Given the description of an element on the screen output the (x, y) to click on. 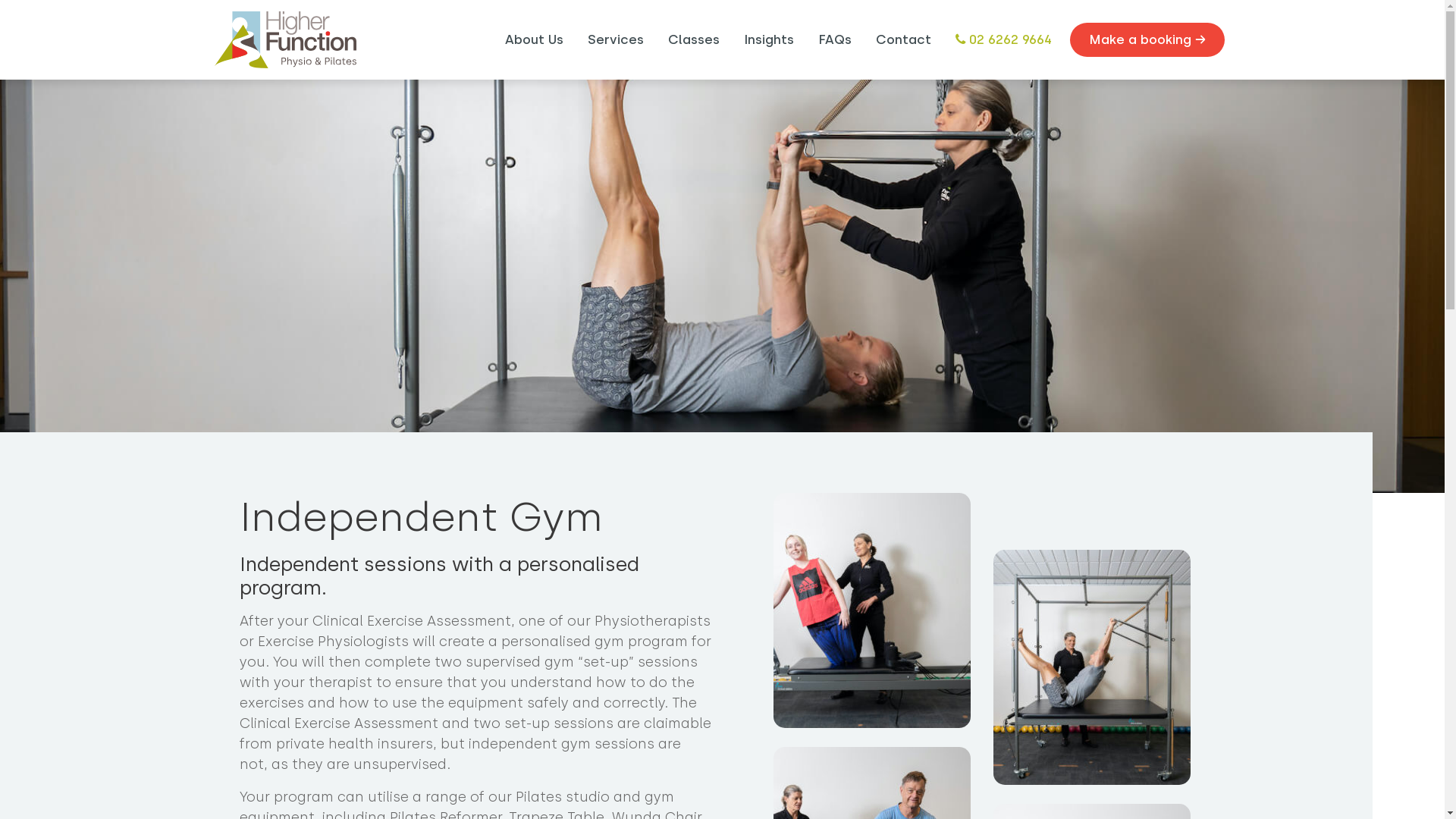
FAQs Element type: text (833, 40)
Contact Element type: text (902, 40)
Insights Element type: text (768, 40)
Classes Element type: text (692, 40)
About Us Element type: text (533, 40)
Services Element type: text (614, 40)
02 6262 9664 Element type: text (1003, 40)
